Given the description of an element on the screen output the (x, y) to click on. 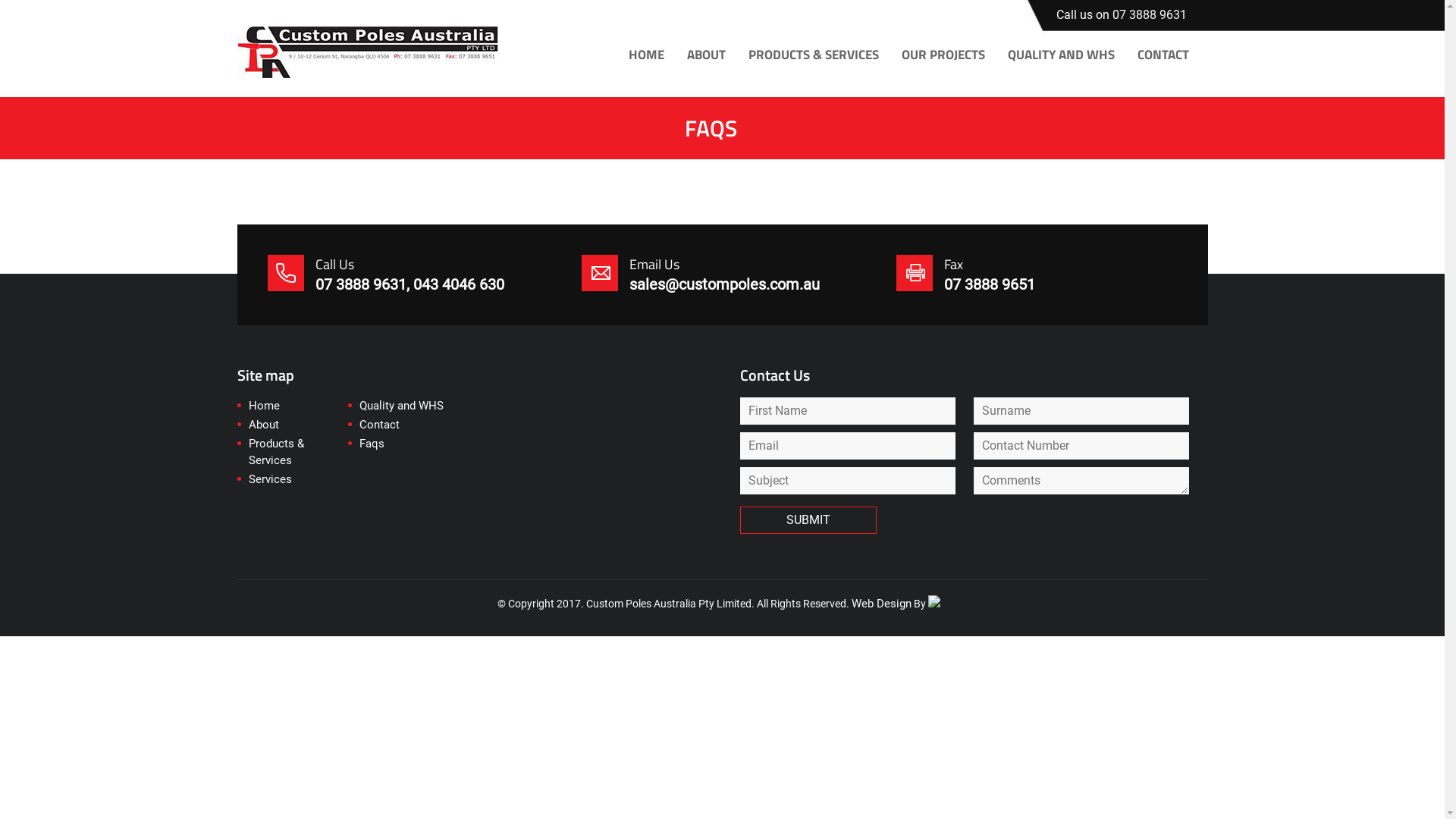
SUBMIT Element type: text (808, 519)
QUALITY AND WHS Element type: text (1060, 55)
Quality and WHS Element type: text (401, 406)
Faqs Element type: text (371, 444)
ABOUT Element type: text (706, 55)
Call us on 07 3888 9631 Element type: text (1120, 14)
Web Design Element type: text (880, 603)
Contact Element type: text (379, 425)
Services Element type: text (269, 479)
Home Element type: text (263, 406)
PRODUCTS & SERVICES Element type: text (812, 55)
OUR PROJECTS Element type: text (942, 55)
Products & Services Element type: text (298, 452)
CONTACT Element type: text (1163, 55)
HOME Element type: text (645, 55)
About Element type: text (263, 425)
